Given the description of an element on the screen output the (x, y) to click on. 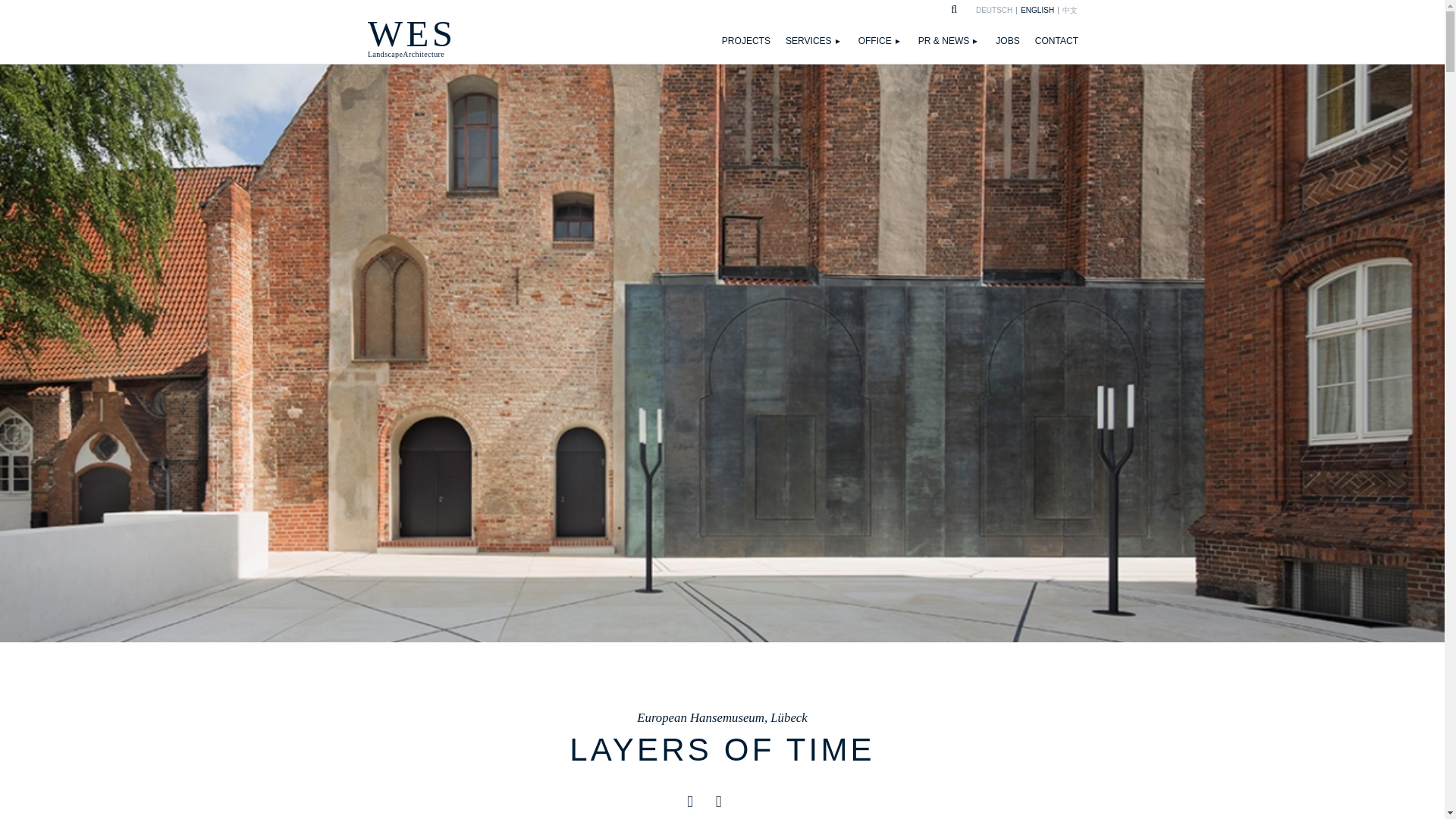
SERVICES (405, 37)
JOBS (822, 41)
CONTACT (1014, 41)
PROJECTS (1056, 41)
DEUTSCH (754, 41)
OFFICE (992, 10)
ENGLISH (888, 41)
